Given the description of an element on the screen output the (x, y) to click on. 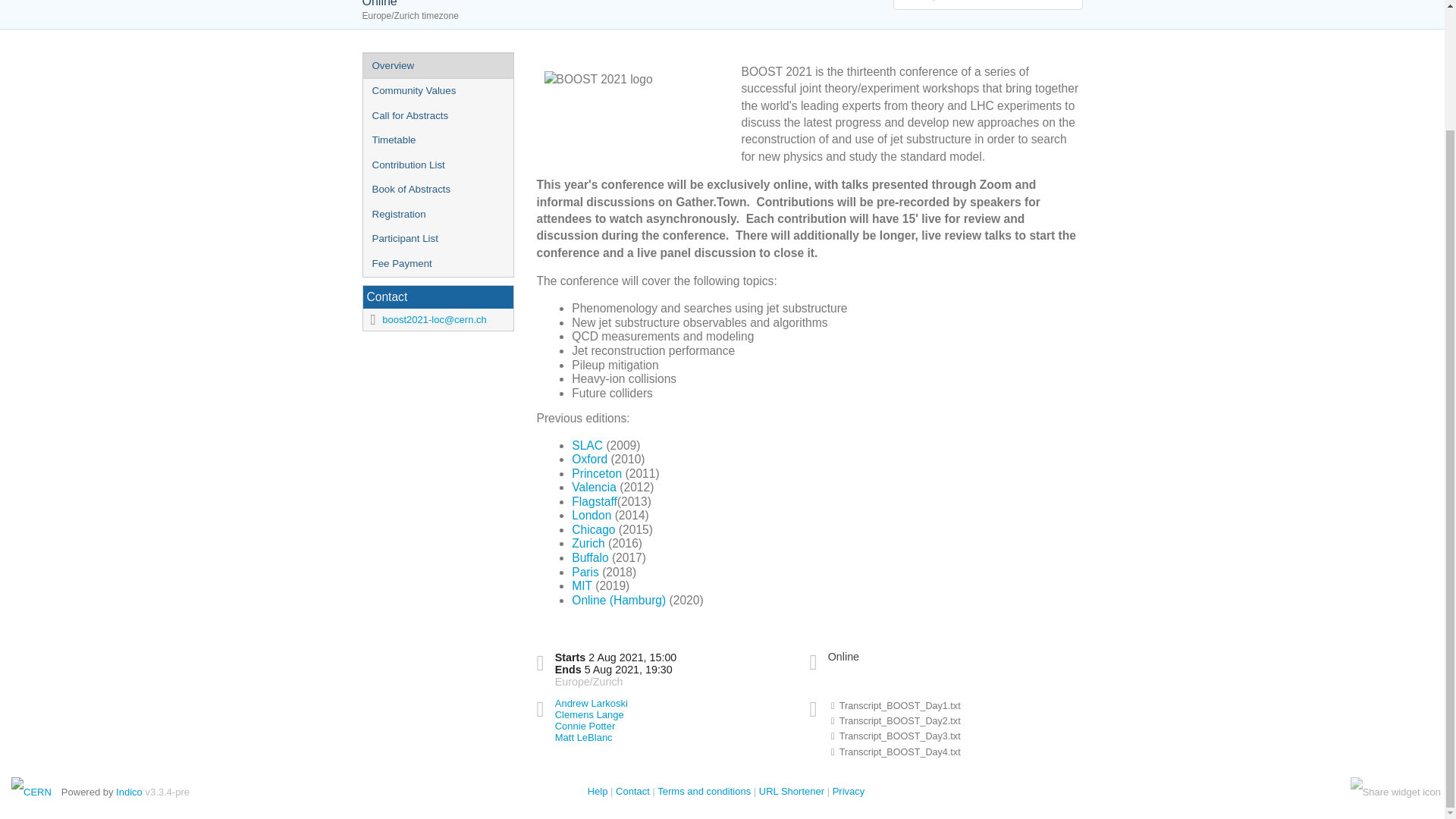
Log in to see their email address (590, 703)
Call for Abstracts (437, 116)
Log in to see their email address (583, 737)
Log in to see their email address (589, 714)
Overview (437, 65)
Log in to see their email address (584, 726)
Community Values (437, 91)
